Given the description of an element on the screen output the (x, y) to click on. 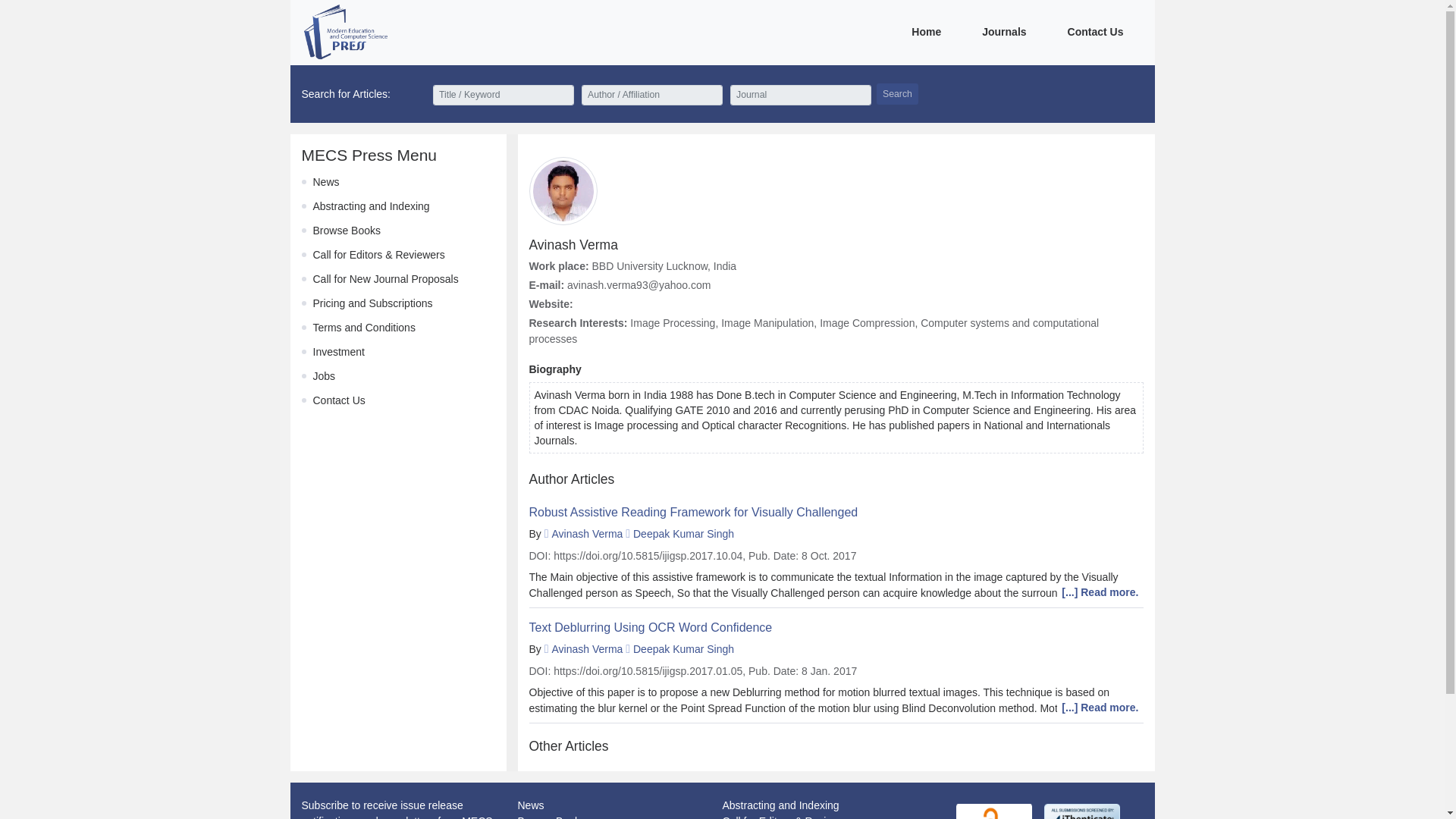
Text Deblurring Using OCR Word Confidence (835, 626)
News (529, 805)
Browse Books (346, 230)
Deepak Kumar Singh (683, 533)
Deepak Kumar Singh (683, 648)
Robust Assistive Reading Framework for Visually Challenged (835, 512)
Investment (338, 351)
Browse Books (550, 816)
Avinash Verma (587, 533)
Avinash Verma (587, 648)
